Given the description of an element on the screen output the (x, y) to click on. 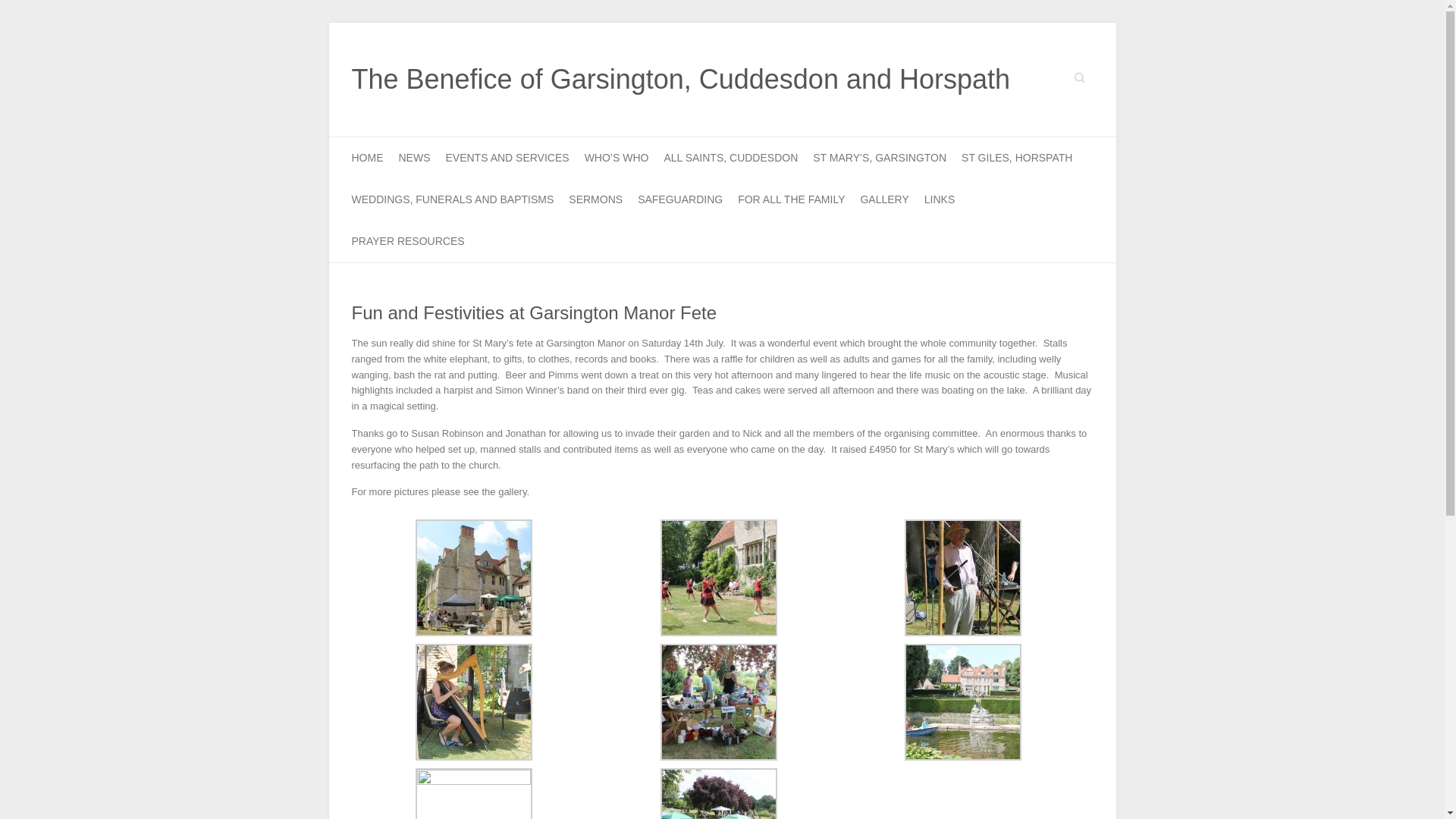
WEDDINGS, FUNERALS AND BAPTISMS (453, 199)
The Benefice of Garsington, Cuddesdon and Horspath (681, 79)
ST GILES, HORSPATH (1015, 158)
EVENTS AND SERVICES (507, 158)
FOR ALL THE FAMILY (791, 199)
PRAYER RESOURCES (408, 241)
SAFEGUARDING (679, 199)
GALLERY (884, 199)
ALL SAINTS, CUDDESDON (730, 158)
SERMONS (596, 199)
